Given the description of an element on the screen output the (x, y) to click on. 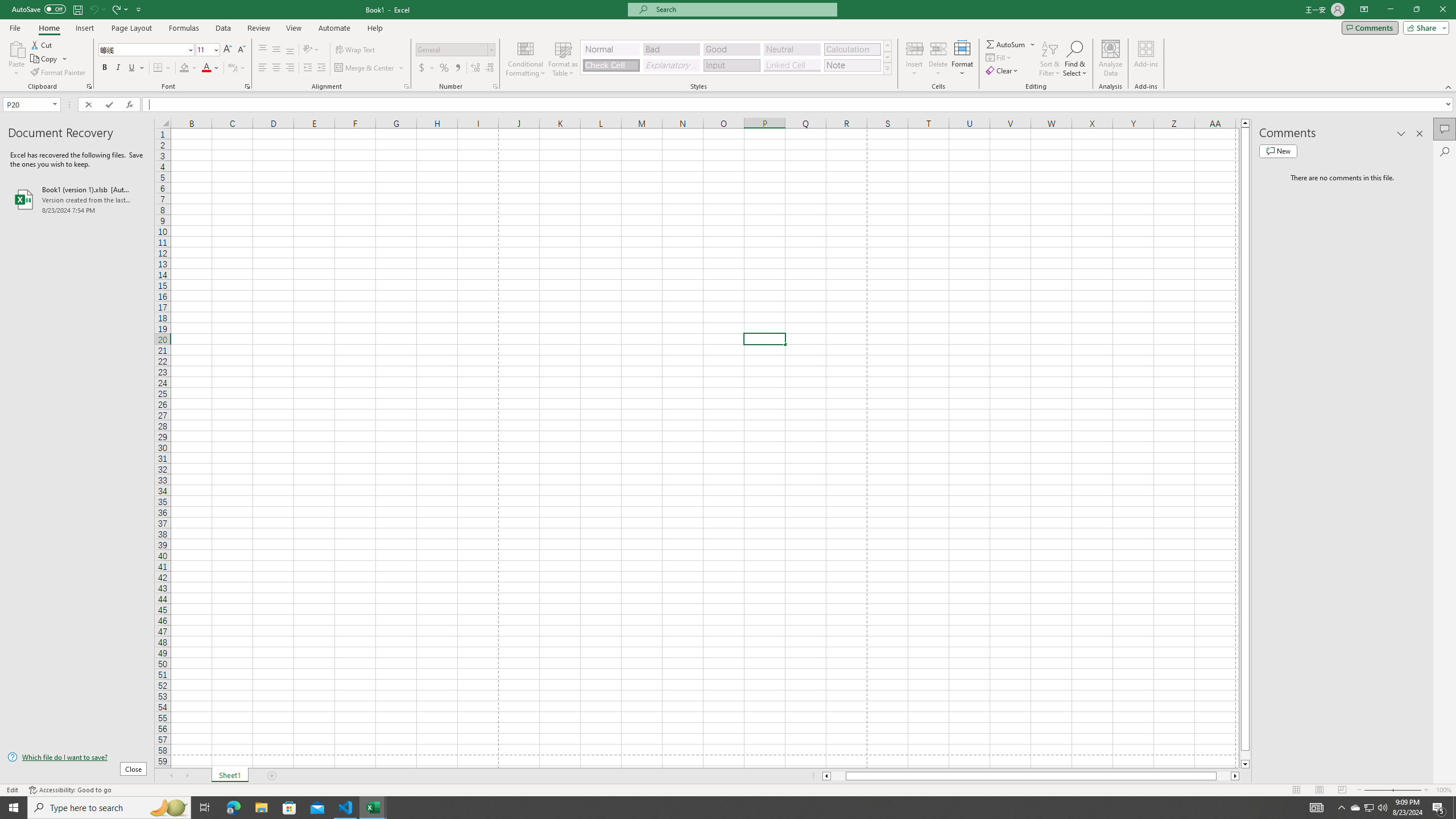
Insert (83, 28)
Column left (826, 775)
Accounting Number Format (426, 67)
Column right (1235, 775)
Font Size (207, 49)
View (293, 28)
Quick Access Toolbar (77, 9)
Home (48, 28)
Insert (914, 58)
Formulas (184, 28)
Good (731, 49)
Number Format (455, 49)
Add Sheet (272, 775)
Page right (1223, 775)
